Given the description of an element on the screen output the (x, y) to click on. 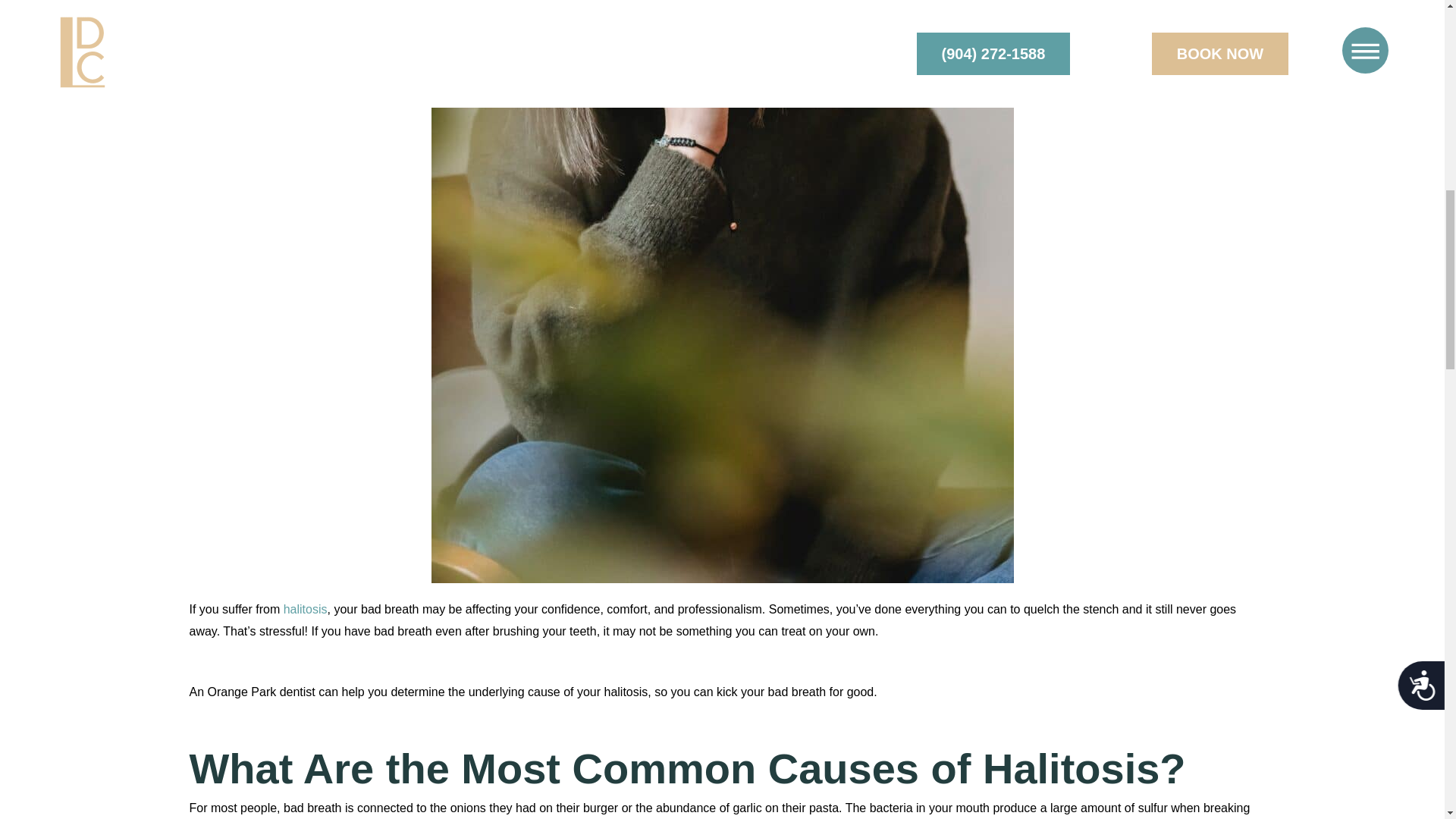
halitosis (305, 608)
